Given the description of an element on the screen output the (x, y) to click on. 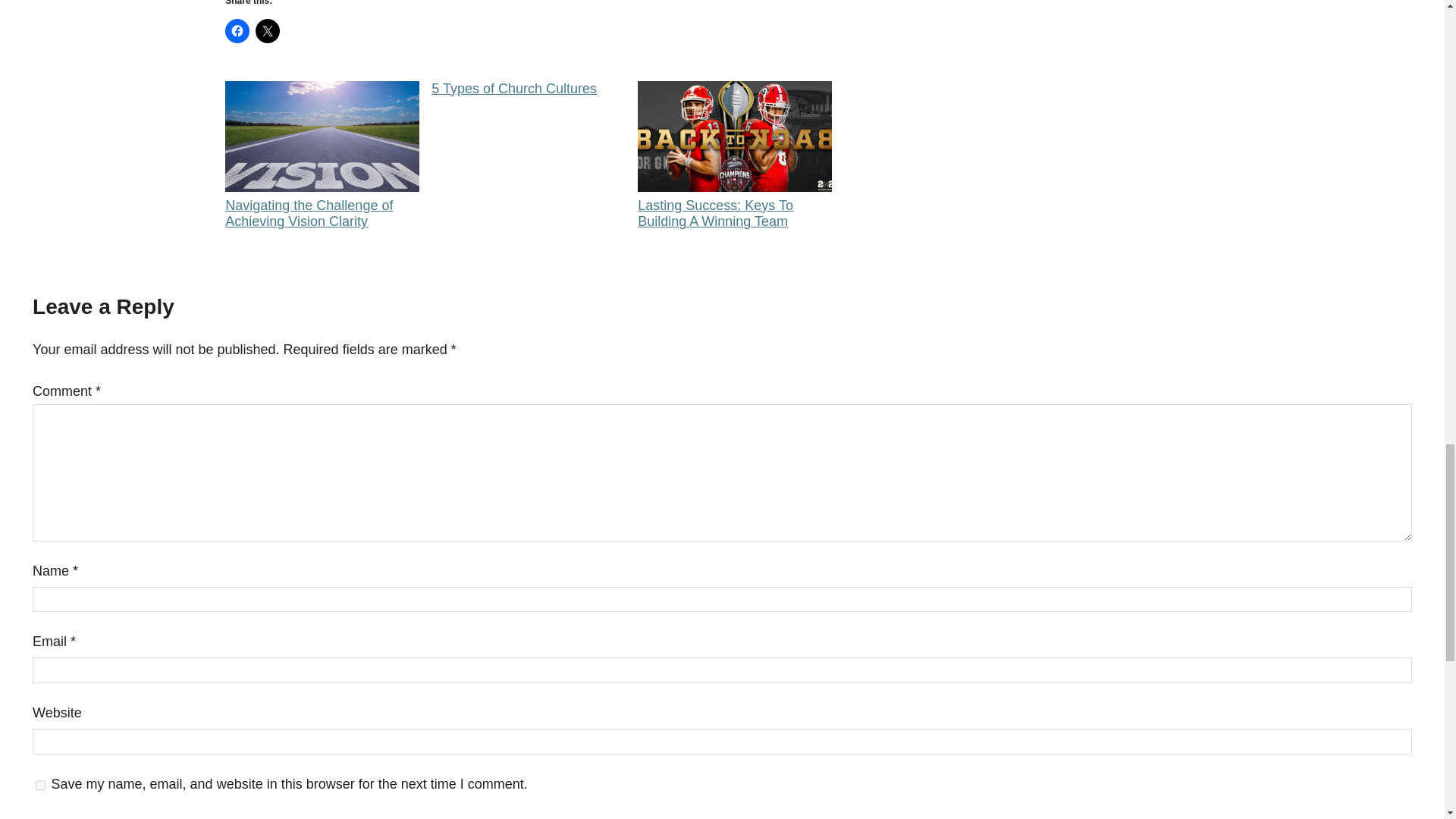
5 Types of Church Cultures (528, 89)
Navigating the Challenge of Achieving Vision Clarity (322, 155)
Lasting Success: Keys To Building A Winning Team (734, 155)
Click to share on X (267, 30)
Click to share on Facebook (236, 30)
